Given the description of an element on the screen output the (x, y) to click on. 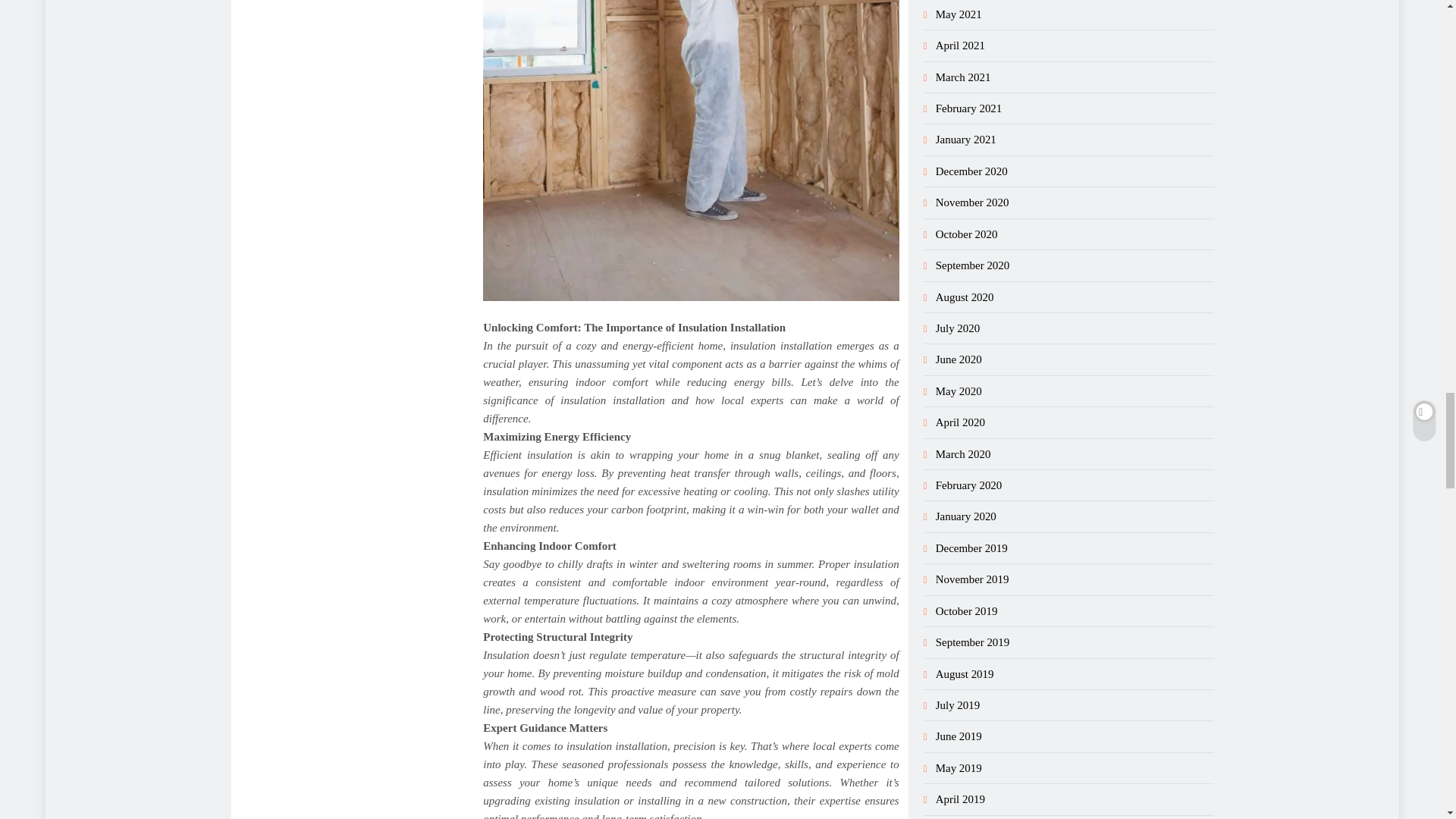
Insulation Installation Find Local Experts Near You (690, 150)
